Given the description of an element on the screen output the (x, y) to click on. 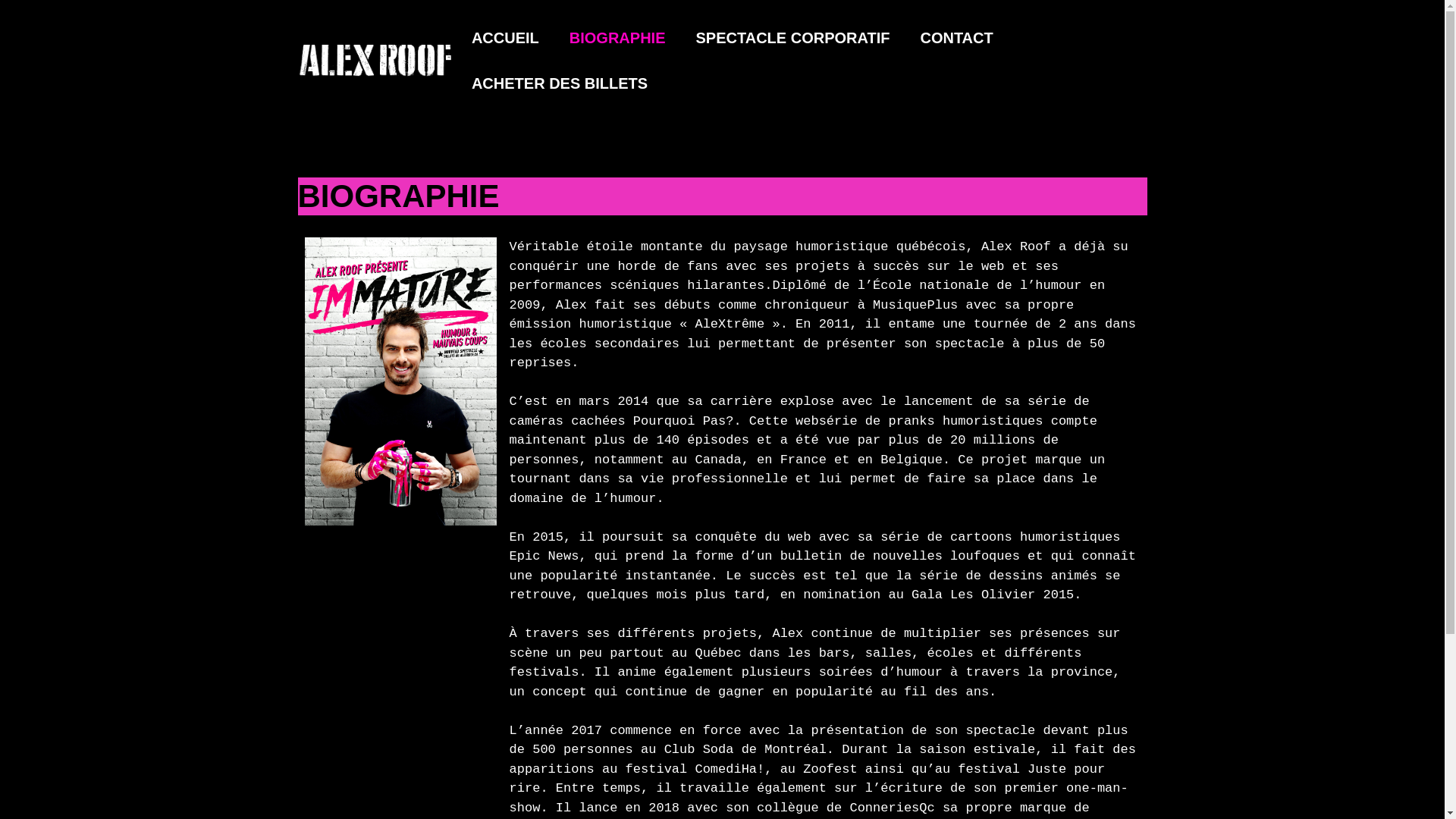
CONTACT Element type: text (955, 37)
SPECTACLE CORPORATIF Element type: text (792, 37)
BIOGRAPHIE Element type: text (617, 37)
ACCUEIL Element type: text (505, 37)
ACHETER DES BILLETS Element type: text (559, 83)
